Given the description of an element on the screen output the (x, y) to click on. 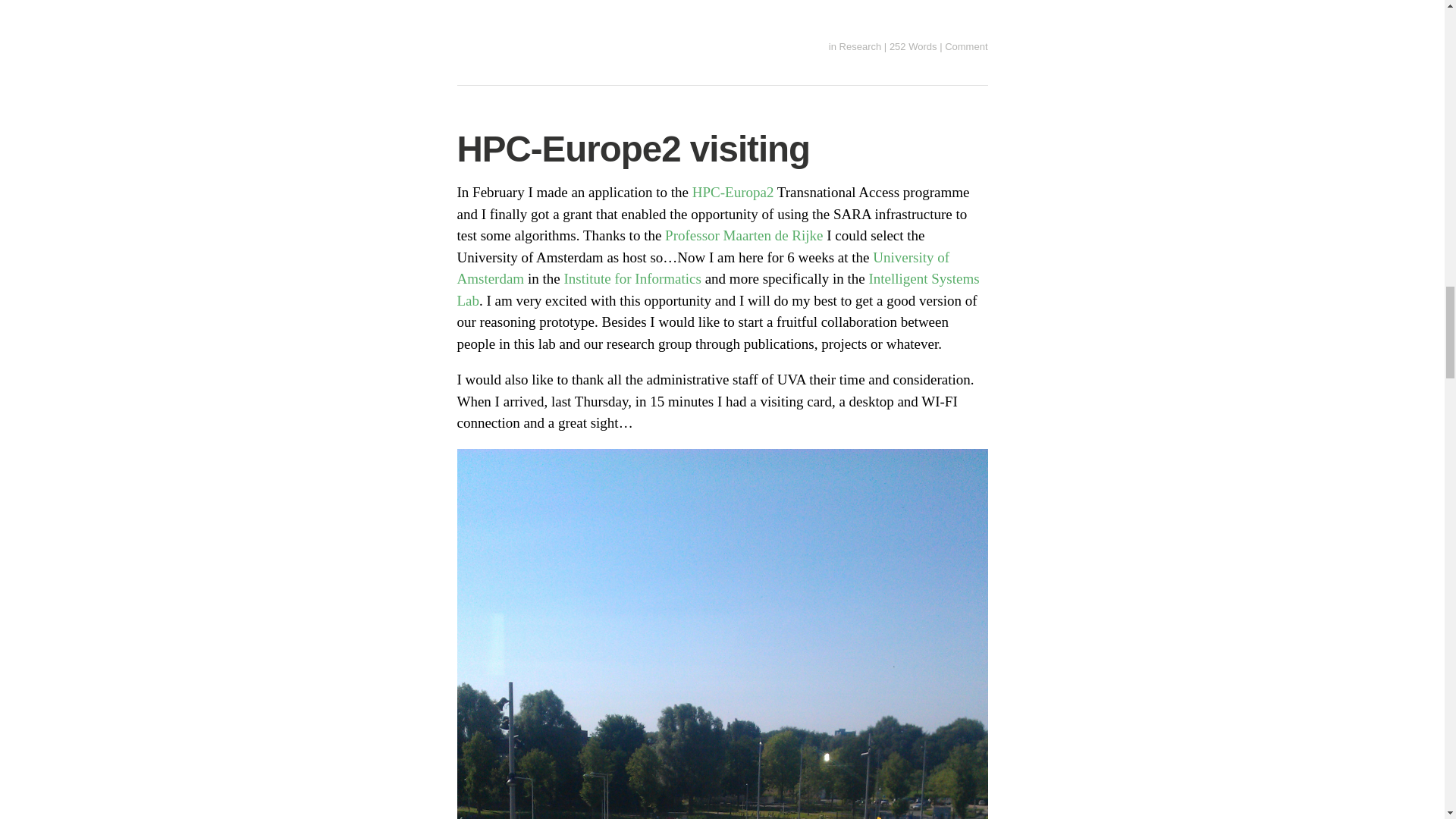
Comment (965, 46)
Research (861, 46)
